Given the description of an element on the screen output the (x, y) to click on. 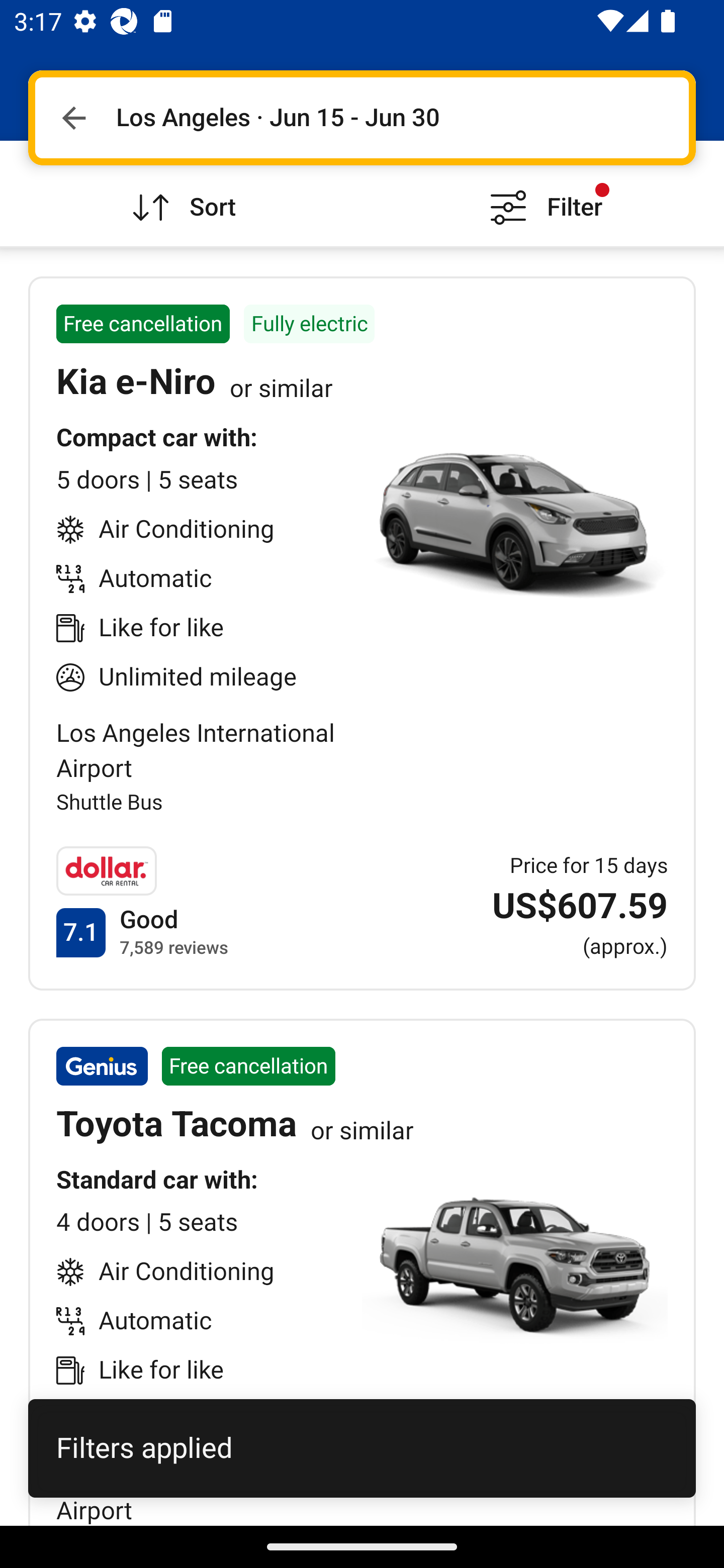
Back to previous screen (73, 117)
Sort (181, 193)
Filter (543, 193)
